Given the description of an element on the screen output the (x, y) to click on. 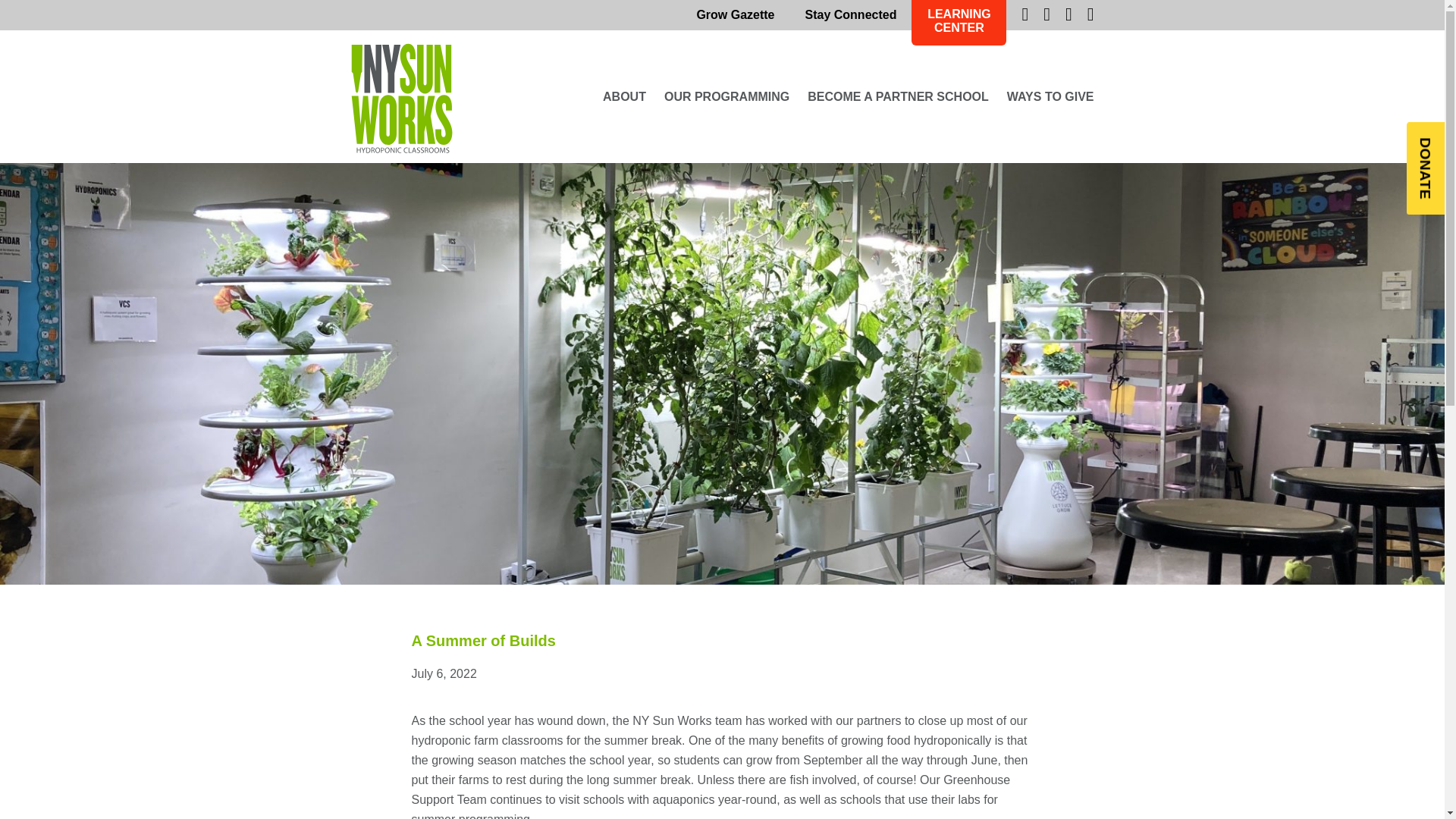
Stay Connected (850, 15)
OUR PROGRAMMING (726, 96)
Grow Gazette (734, 15)
ABOUT (624, 96)
BECOME A PARTNER SCHOOL (898, 96)
LEARNING CENTER (958, 22)
WAYS TO GIVE (1050, 96)
